Given the description of an element on the screen output the (x, y) to click on. 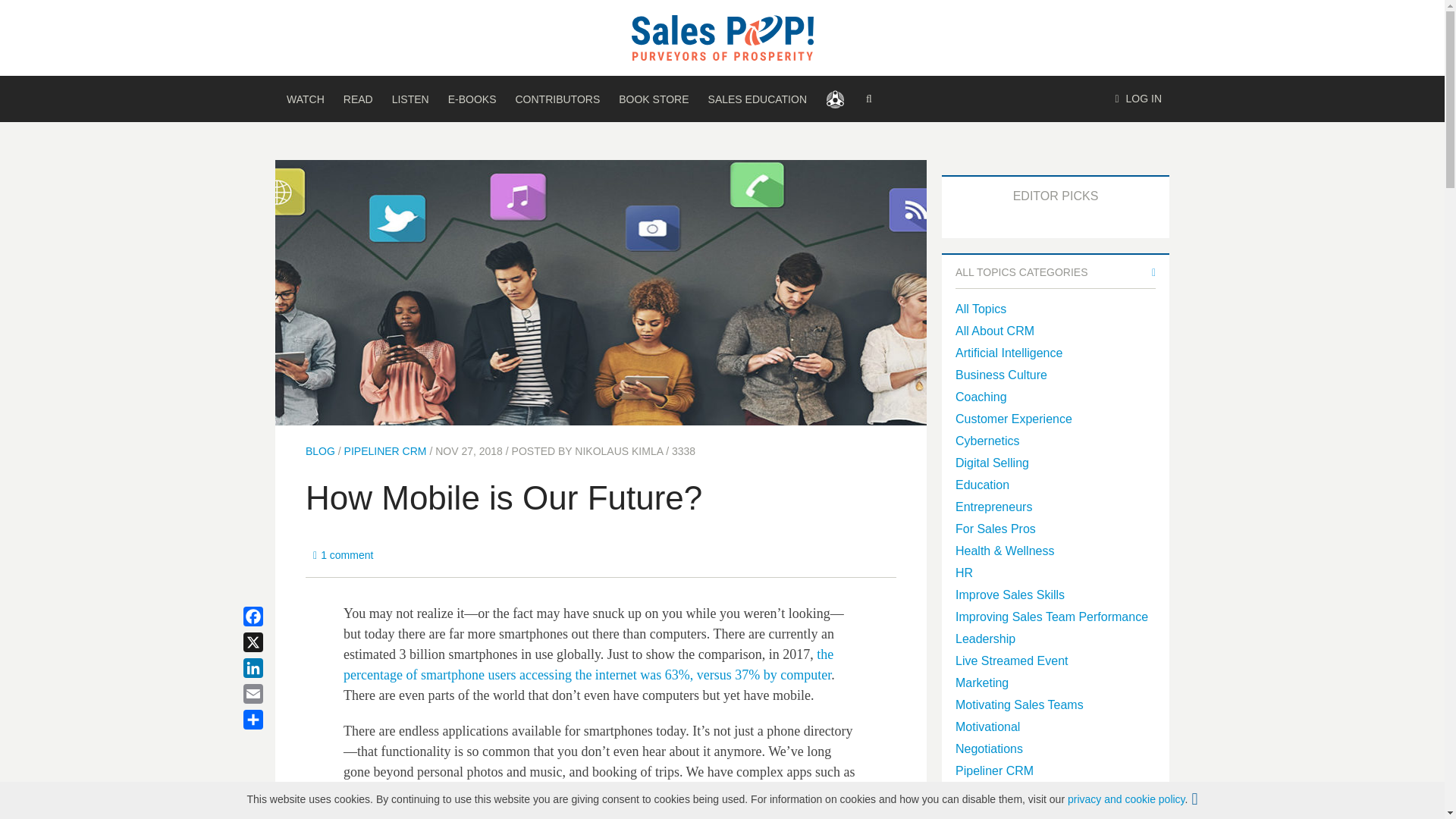
BOOK STORE (653, 99)
SALES EDUCATION (756, 99)
LinkedIn (271, 667)
Email (271, 693)
LISTEN (410, 99)
X (271, 642)
PIPELINER CRM (384, 451)
CONTRIBUTORS (556, 99)
E-BOOKS (472, 99)
READ (358, 99)
